Given the description of an element on the screen output the (x, y) to click on. 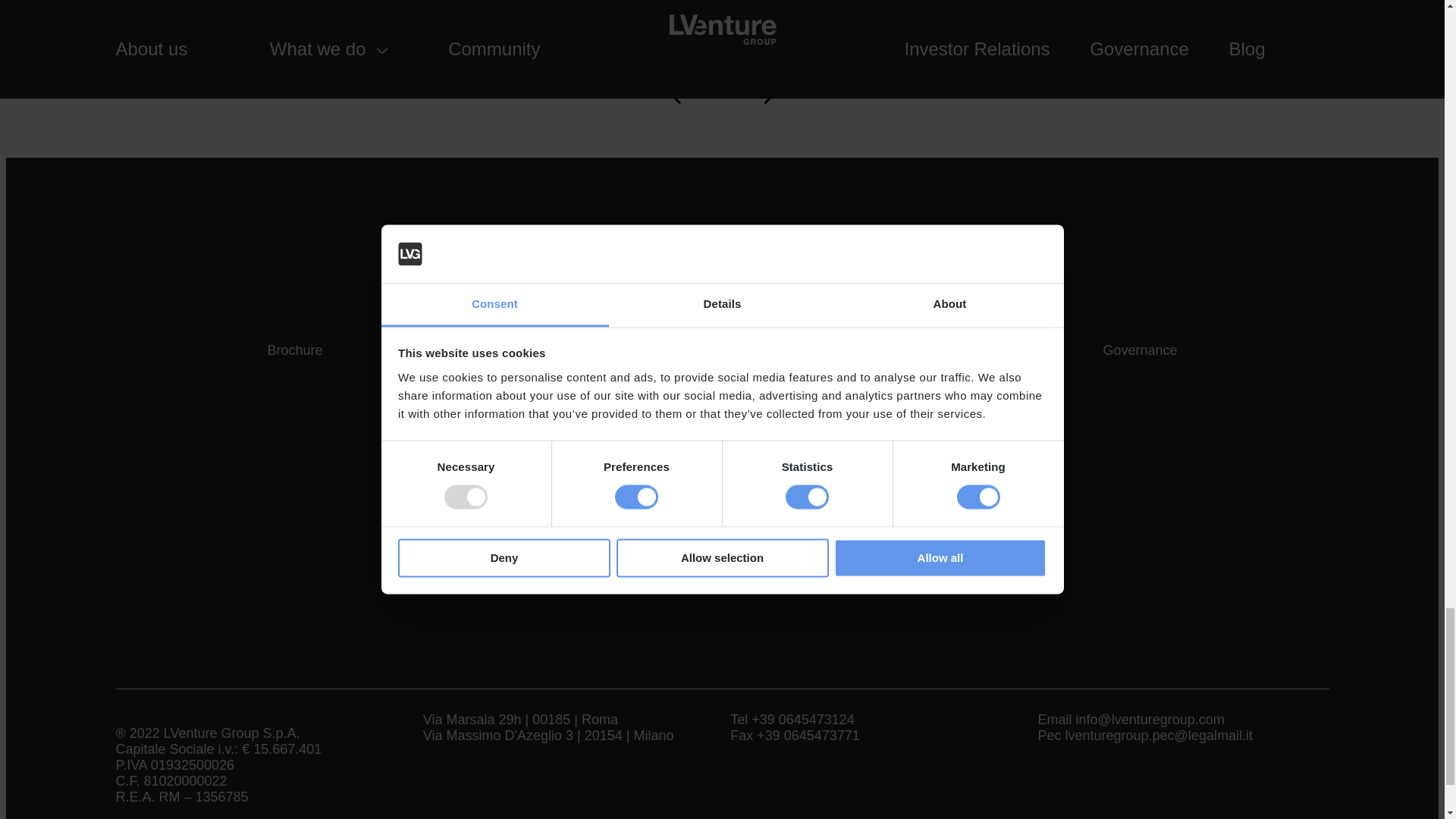
1 (426, 516)
